Given the description of an element on the screen output the (x, y) to click on. 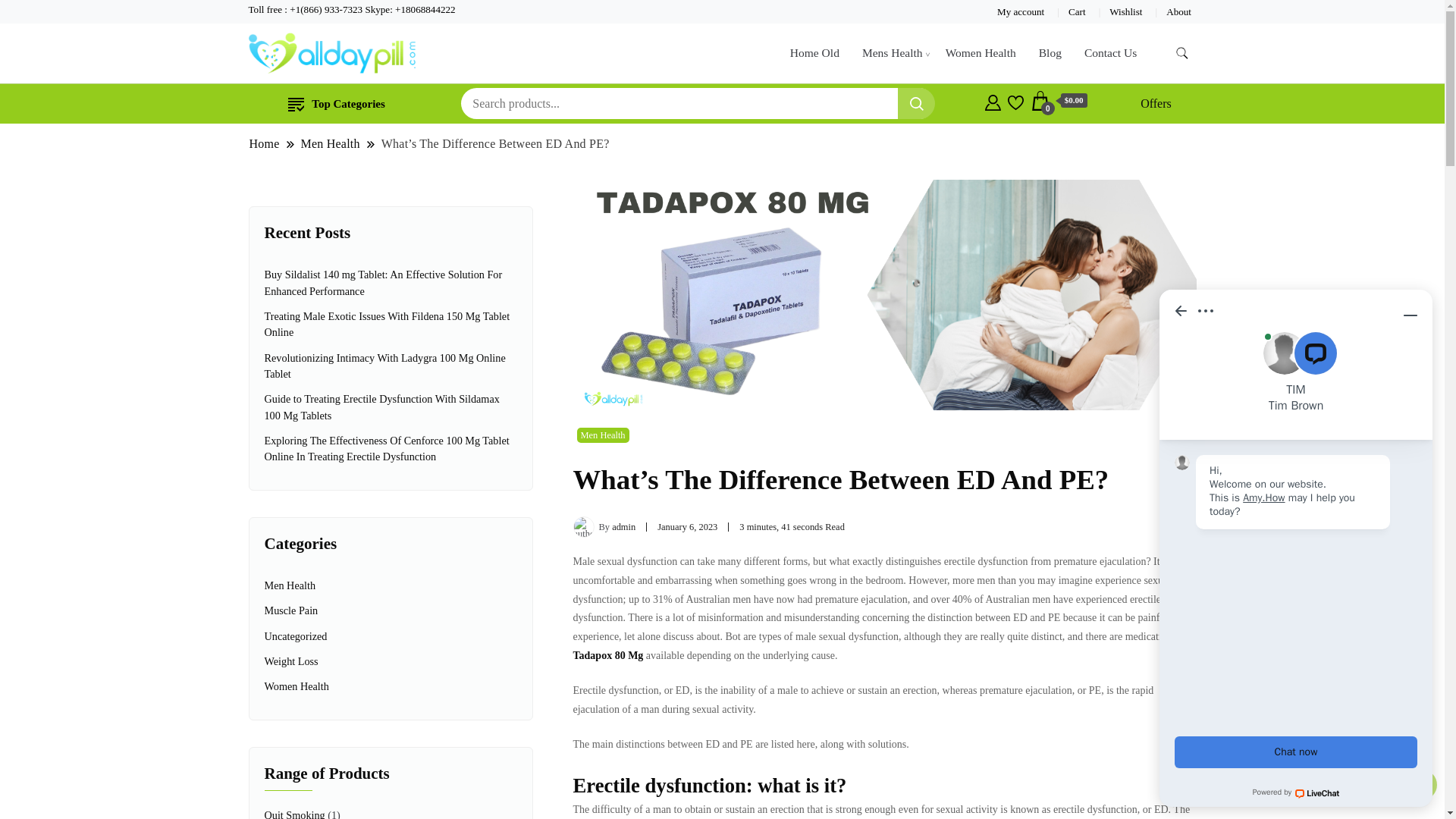
Contact Us (1110, 53)
My account (1020, 11)
Cart (1077, 11)
Women Health (981, 53)
Top Categories (336, 103)
Home Old (814, 53)
My Account (993, 100)
About (1178, 11)
Cart (1058, 101)
Wishlist (1125, 11)
Mens Health (892, 53)
Wishlist (1015, 100)
